Given the description of an element on the screen output the (x, y) to click on. 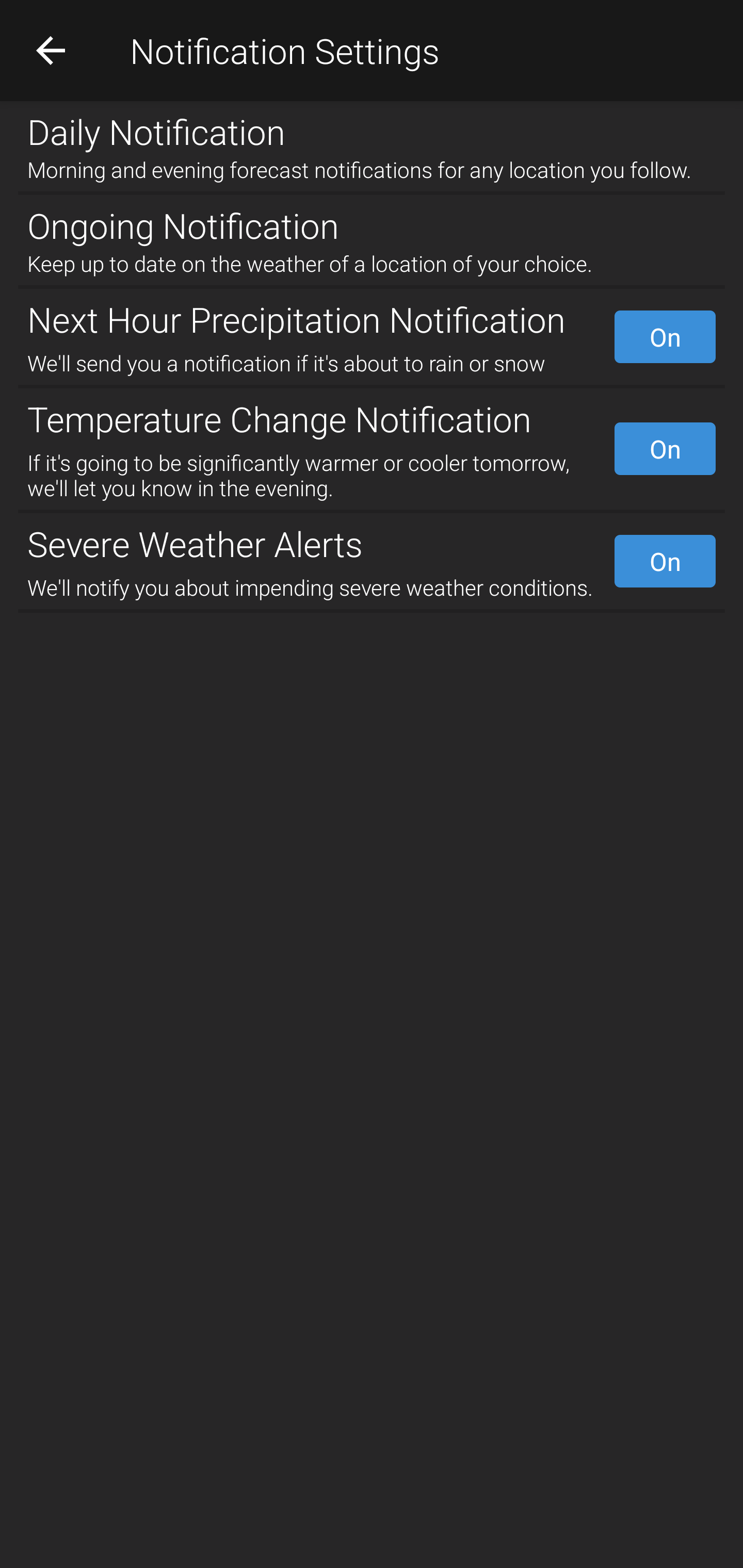
Navigate up (50, 50)
Daily Notification (371, 127)
Ongoing Notification (371, 221)
On (664, 336)
On (664, 448)
On (664, 561)
